Given the description of an element on the screen output the (x, y) to click on. 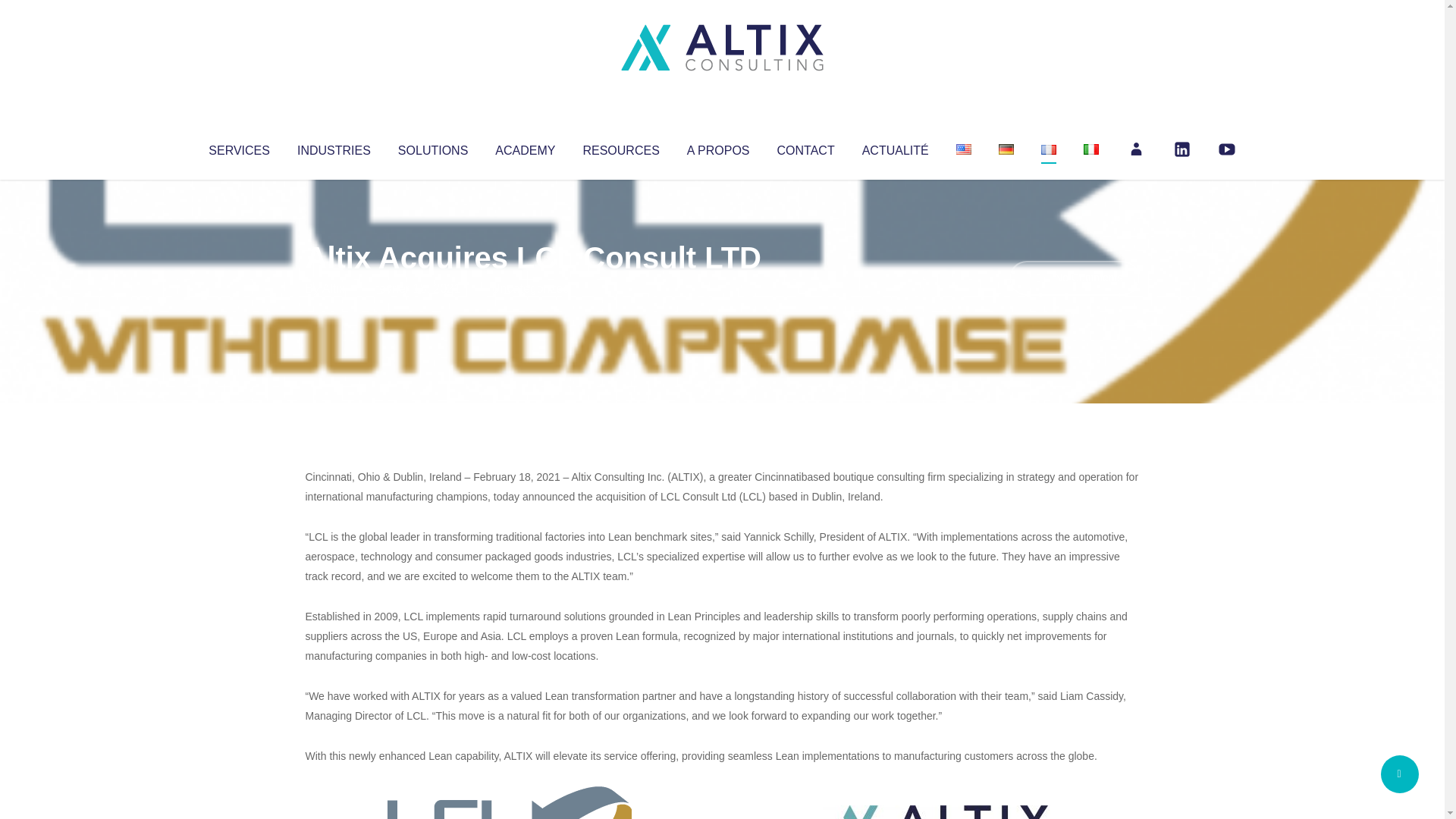
SOLUTIONS (432, 146)
INDUSTRIES (334, 146)
Uncategorized (530, 287)
A PROPOS (718, 146)
Altix (333, 287)
Articles par Altix (333, 287)
SERVICES (238, 146)
RESOURCES (620, 146)
ACADEMY (524, 146)
No Comments (1073, 278)
